Given the description of an element on the screen output the (x, y) to click on. 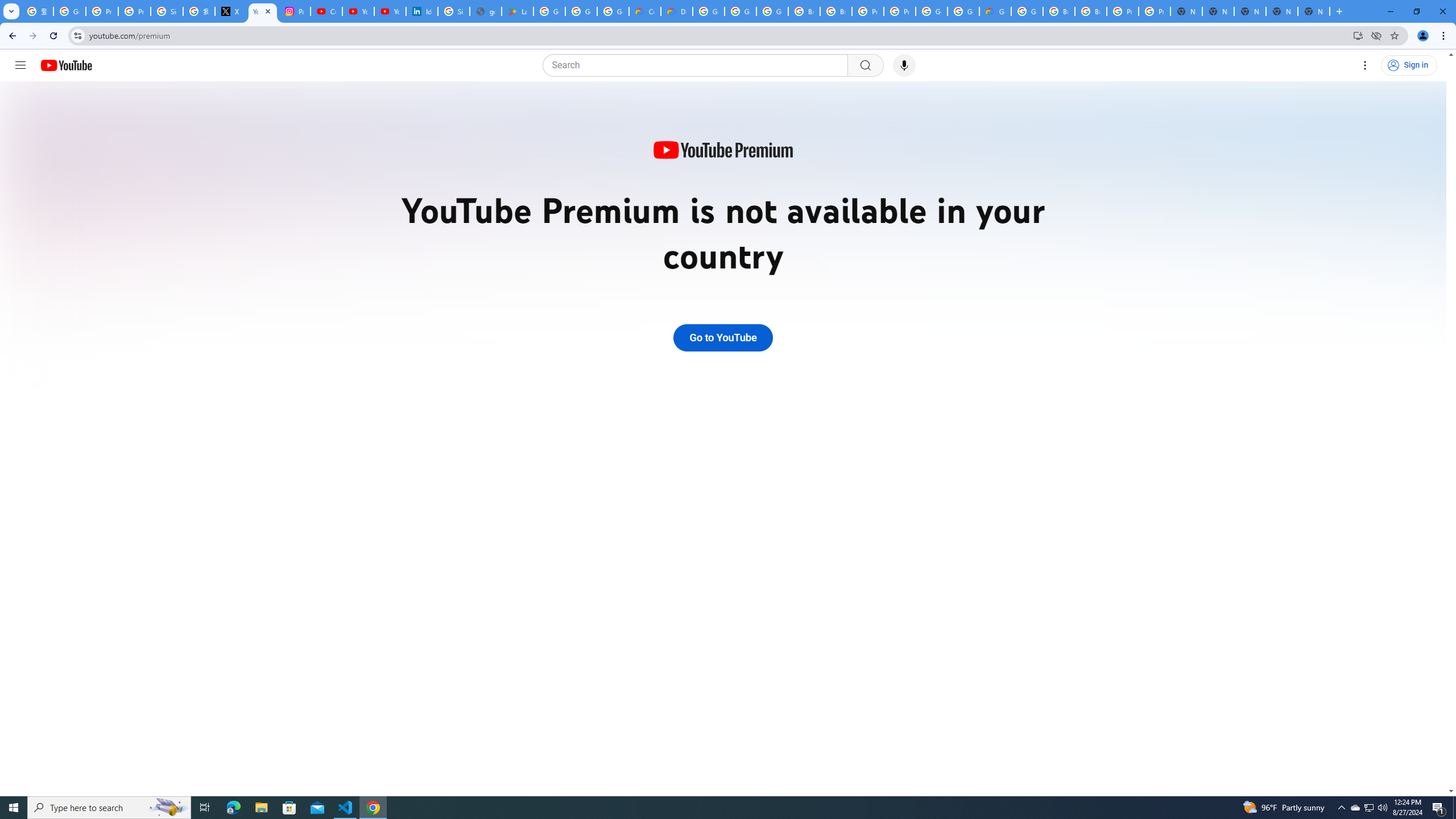
Google Cloud Platform (931, 11)
Search with your voice (903, 65)
Sign in - Google Accounts (166, 11)
YouTube Home (66, 65)
Google Cloud Platform (708, 11)
Last Shelter: Survival - Apps on Google Play (517, 11)
